Given the description of an element on the screen output the (x, y) to click on. 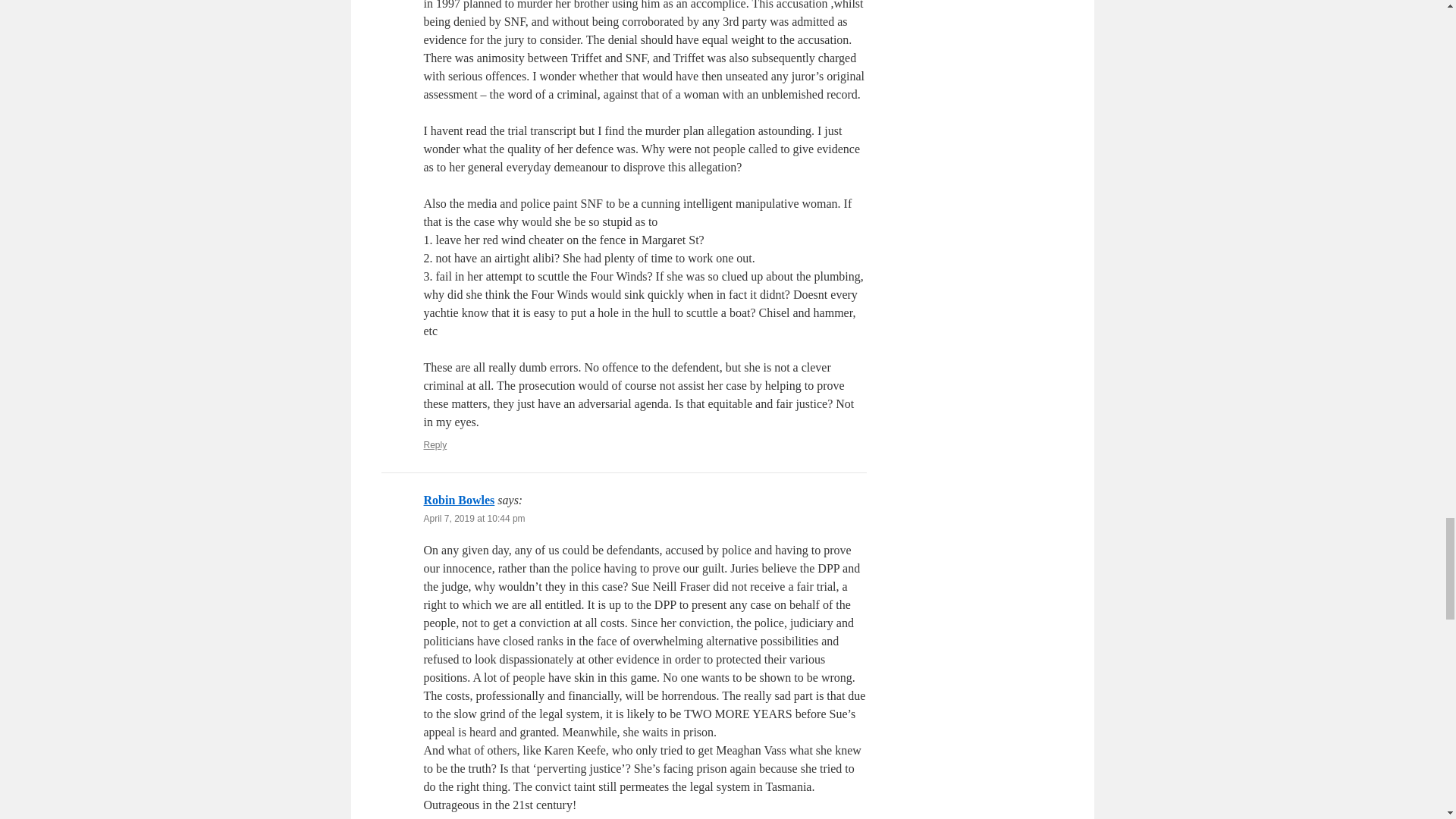
April 7, 2019 at 10:44 pm (473, 518)
Reply (434, 444)
Robin Bowles (459, 499)
